Given the description of an element on the screen output the (x, y) to click on. 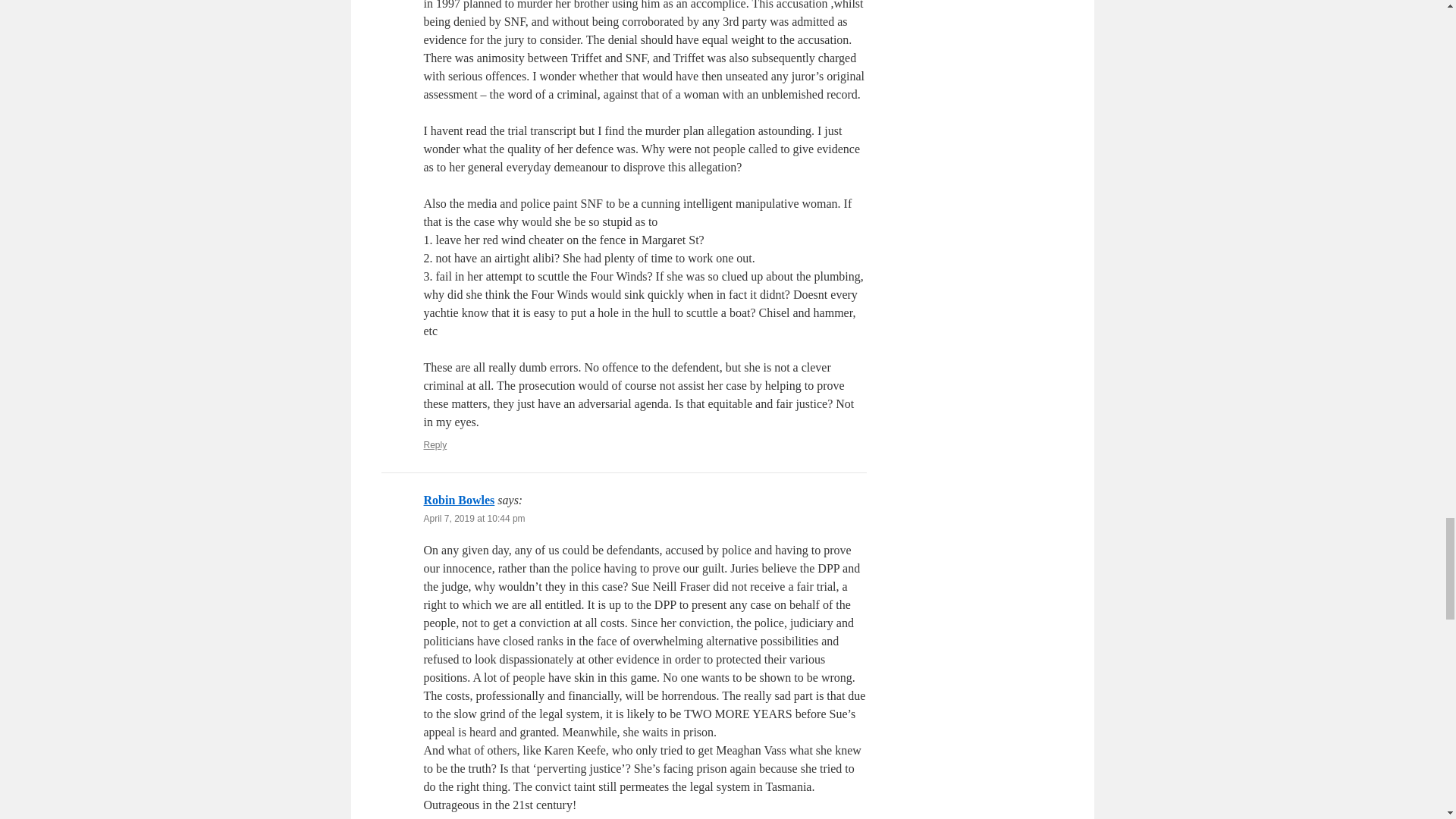
April 7, 2019 at 10:44 pm (473, 518)
Reply (434, 444)
Robin Bowles (459, 499)
